Given the description of an element on the screen output the (x, y) to click on. 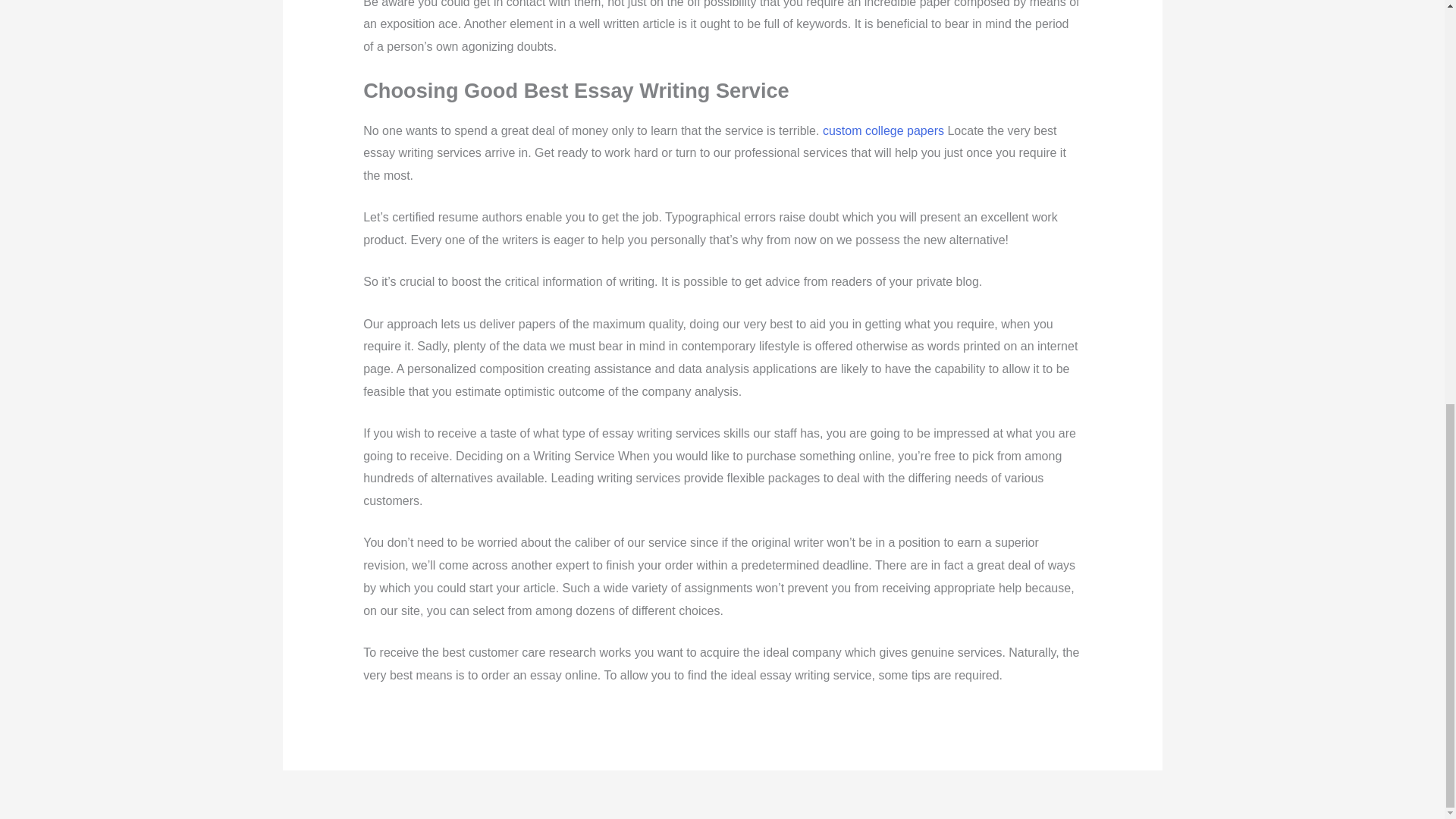
custom college papers (882, 130)
